Given the description of an element on the screen output the (x, y) to click on. 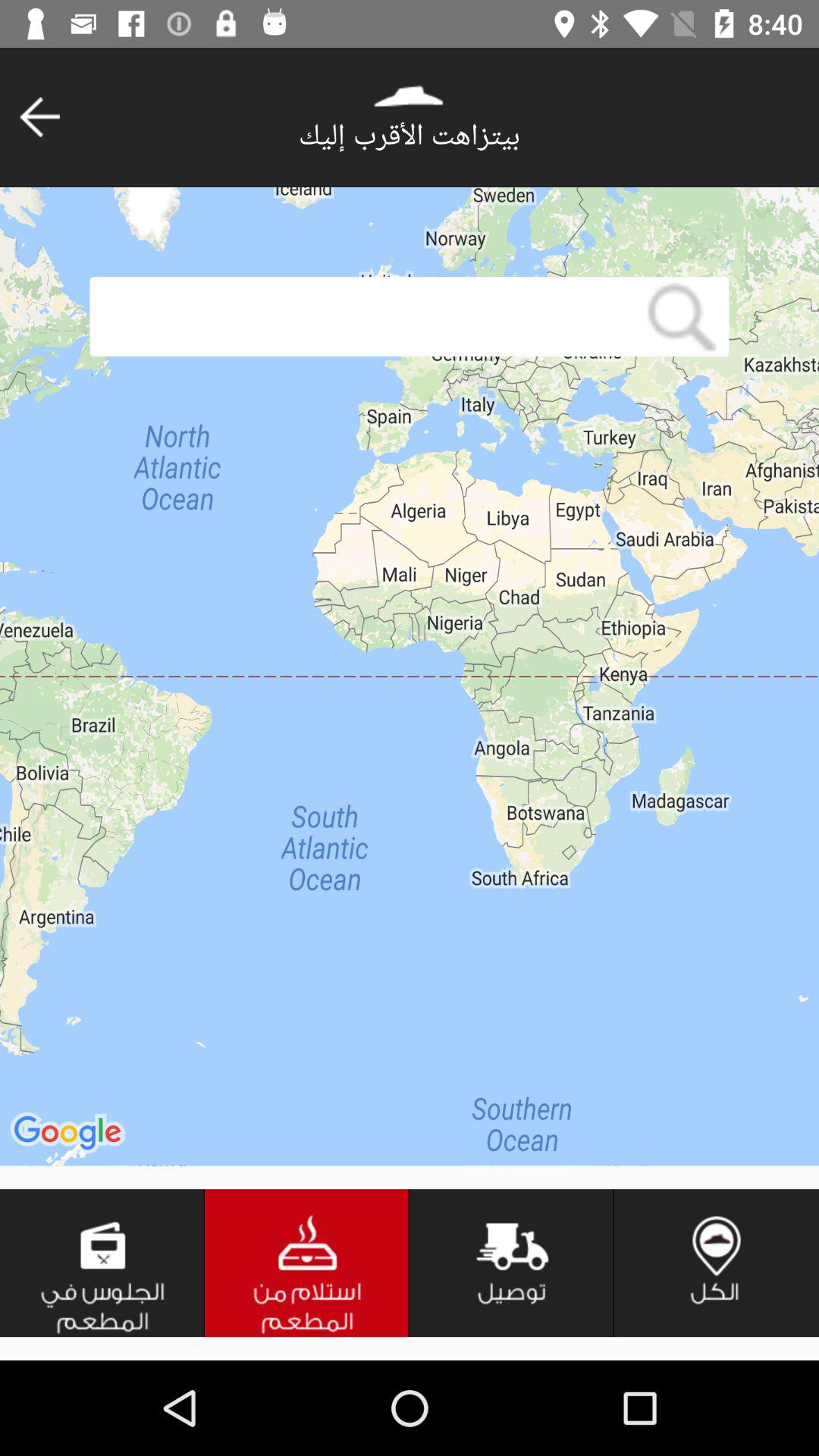
search (362, 316)
